Given the description of an element on the screen output the (x, y) to click on. 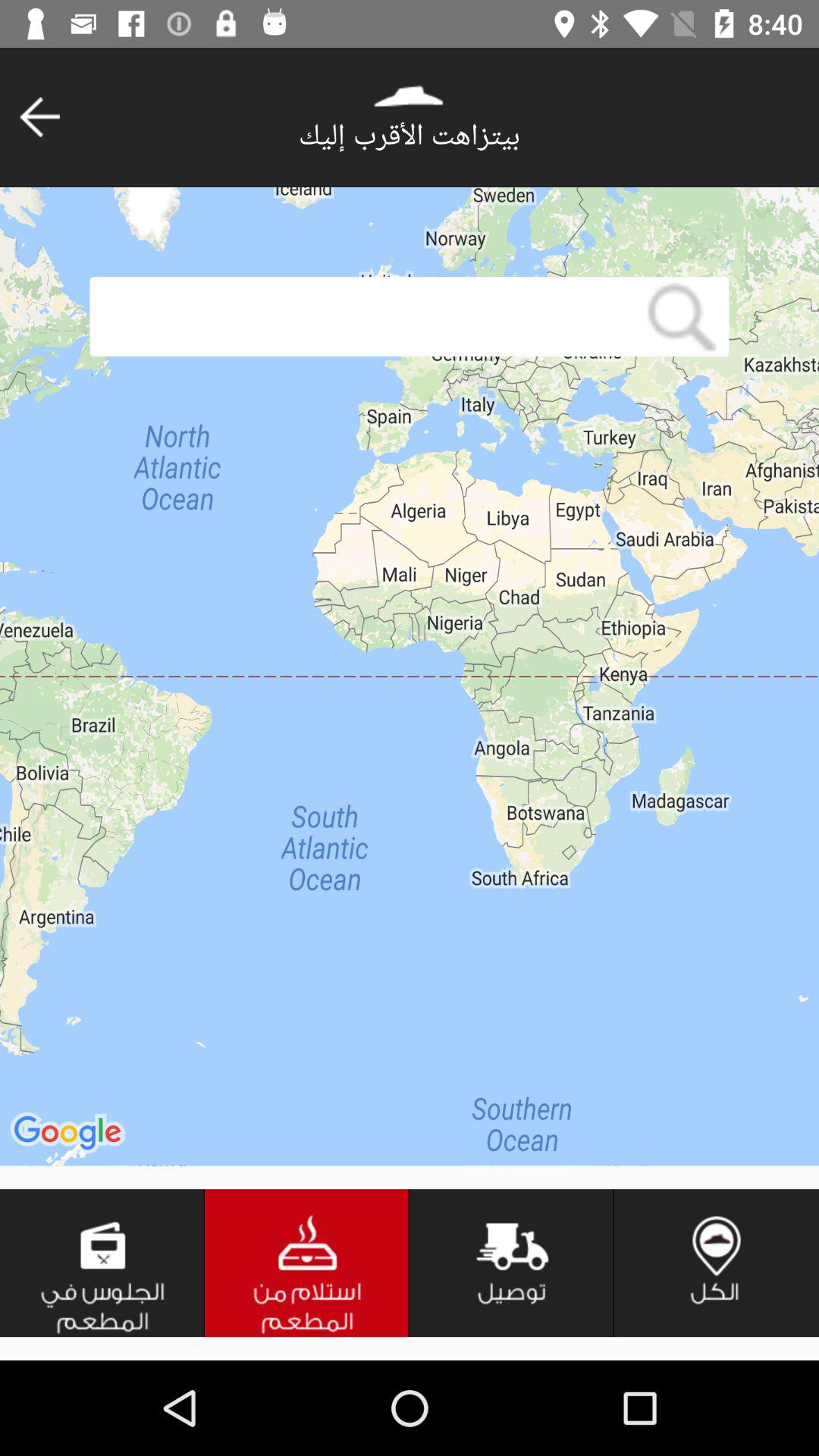
search (362, 316)
